Given the description of an element on the screen output the (x, y) to click on. 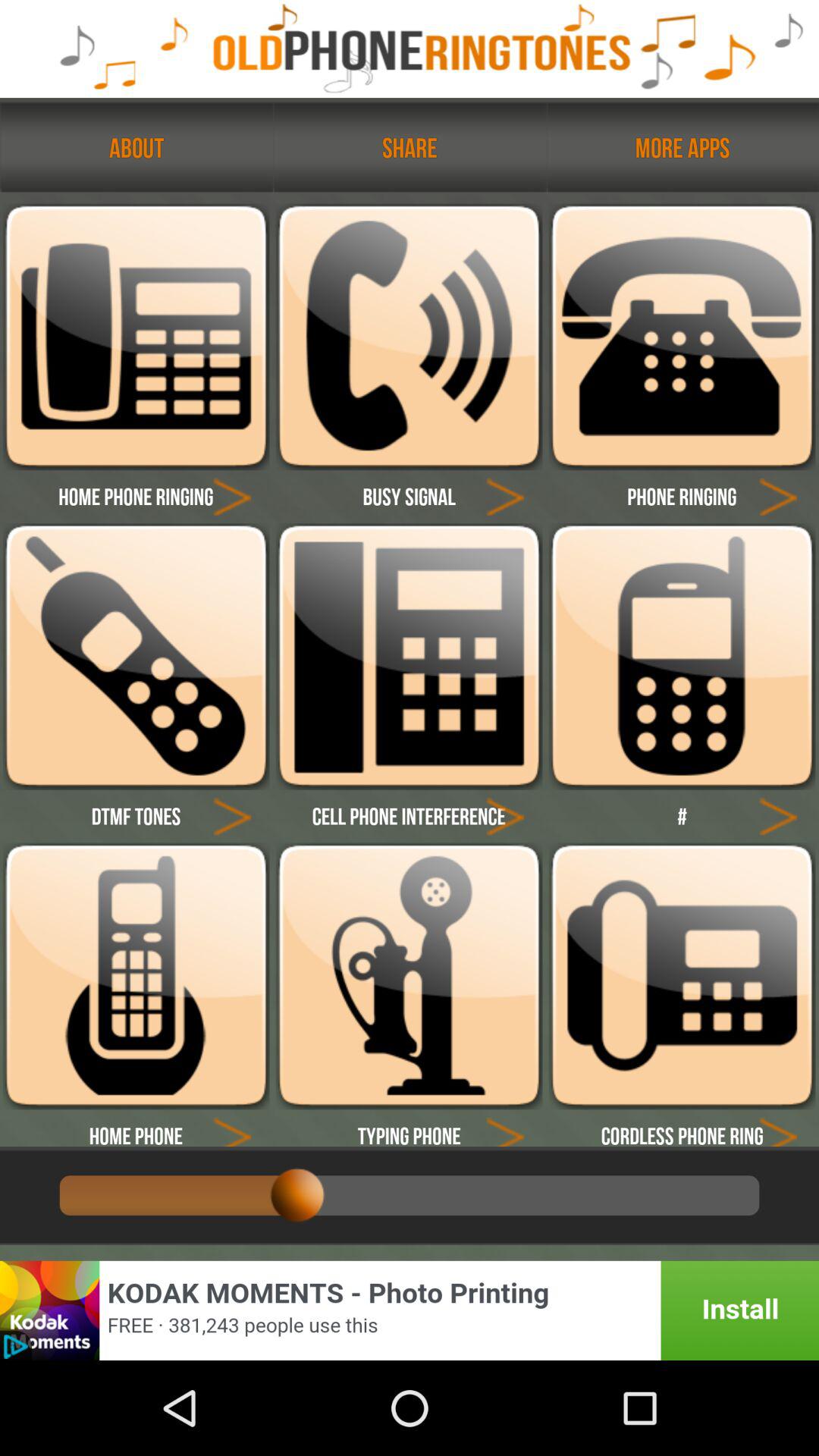
select home phone (135, 975)
